Given the description of an element on the screen output the (x, y) to click on. 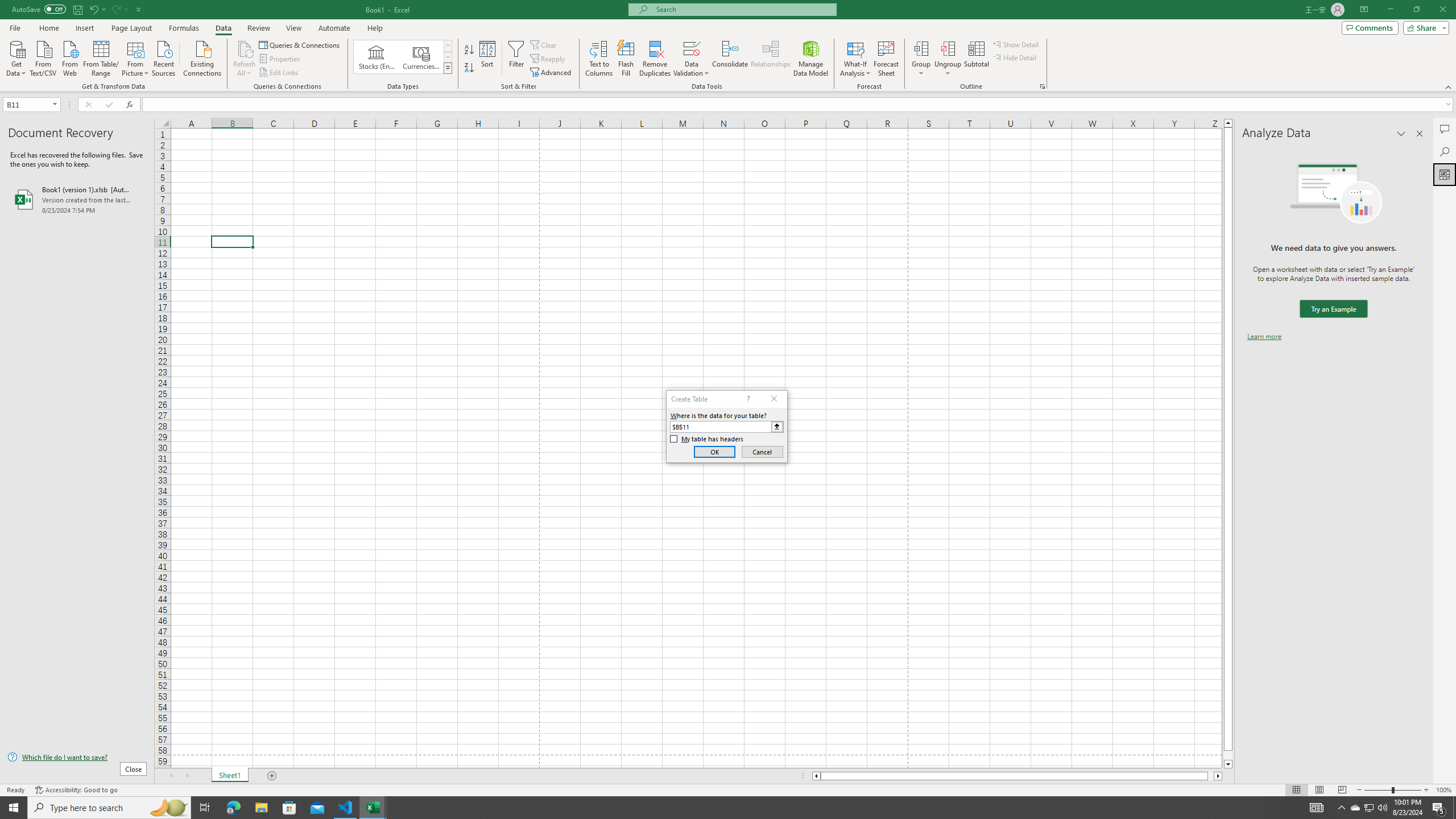
Data Validation... (691, 58)
Clear (544, 44)
Subtotal (976, 58)
Data (223, 28)
Class: NetUIScrollBar (1016, 775)
Comments (1369, 27)
Automate (334, 28)
Customize Quick Access Toolbar (139, 9)
View (293, 28)
Flash Fill (625, 58)
Properties (280, 58)
Forecast Sheet (885, 58)
Refresh All (244, 48)
